Given the description of an element on the screen output the (x, y) to click on. 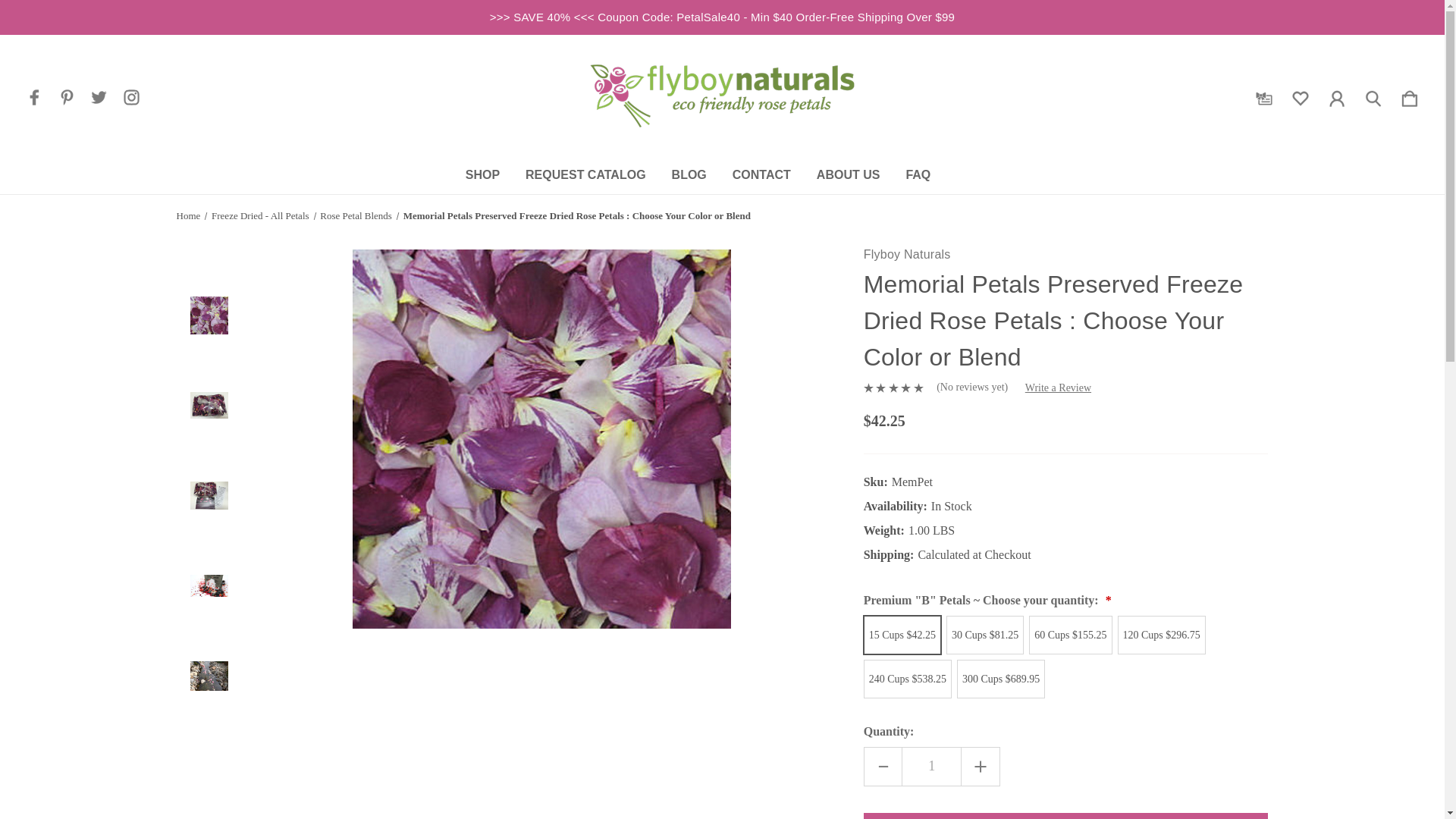
REQUEST CATALOG (585, 174)
Add to Cart (1065, 816)
Flyboy Naturals, Inc (722, 95)
SHOP (482, 174)
